Given the description of an element on the screen output the (x, y) to click on. 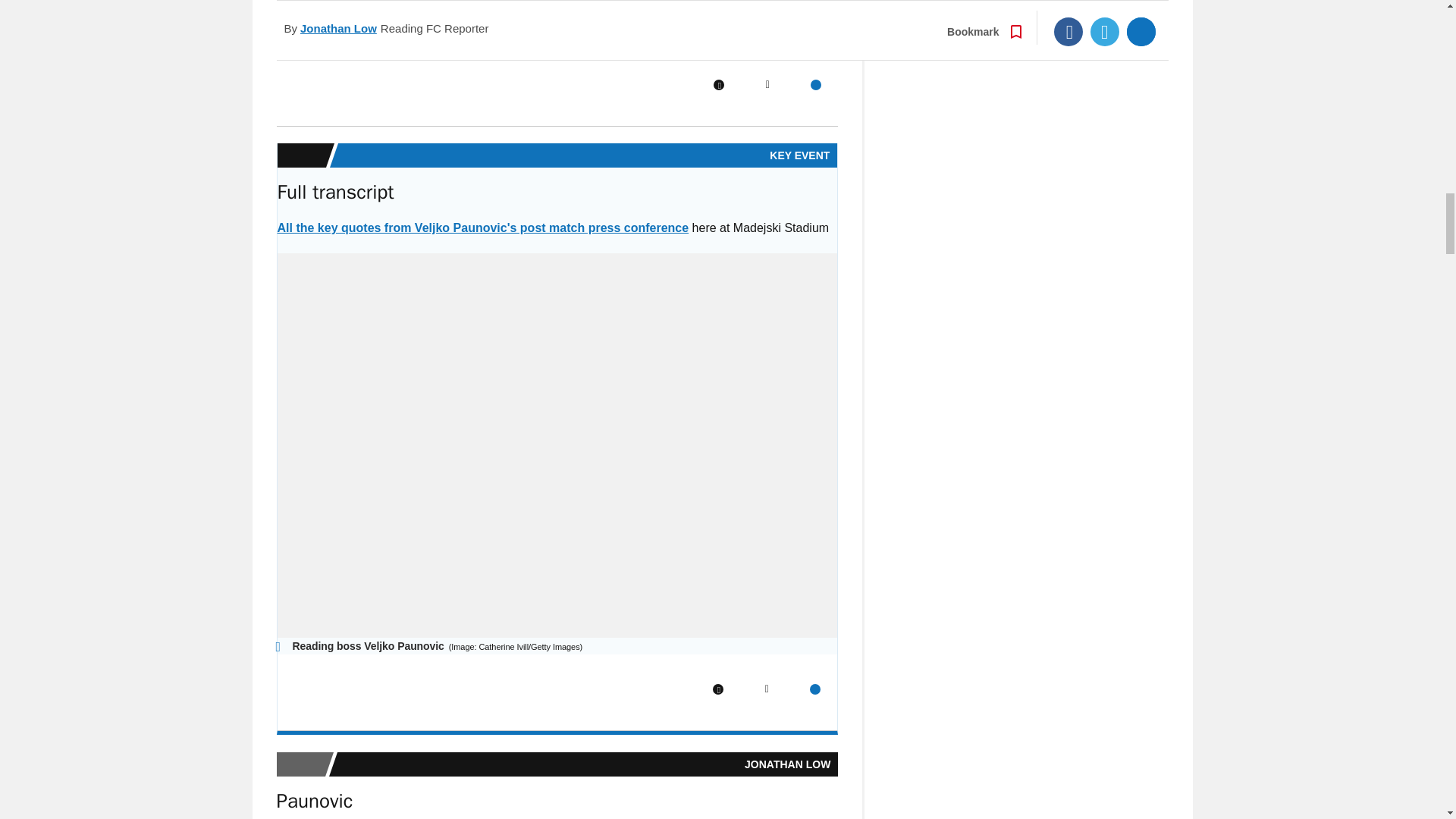
Twitter (767, 84)
Facebook (718, 688)
Twitter (766, 688)
Facebook (718, 84)
